Given the description of an element on the screen output the (x, y) to click on. 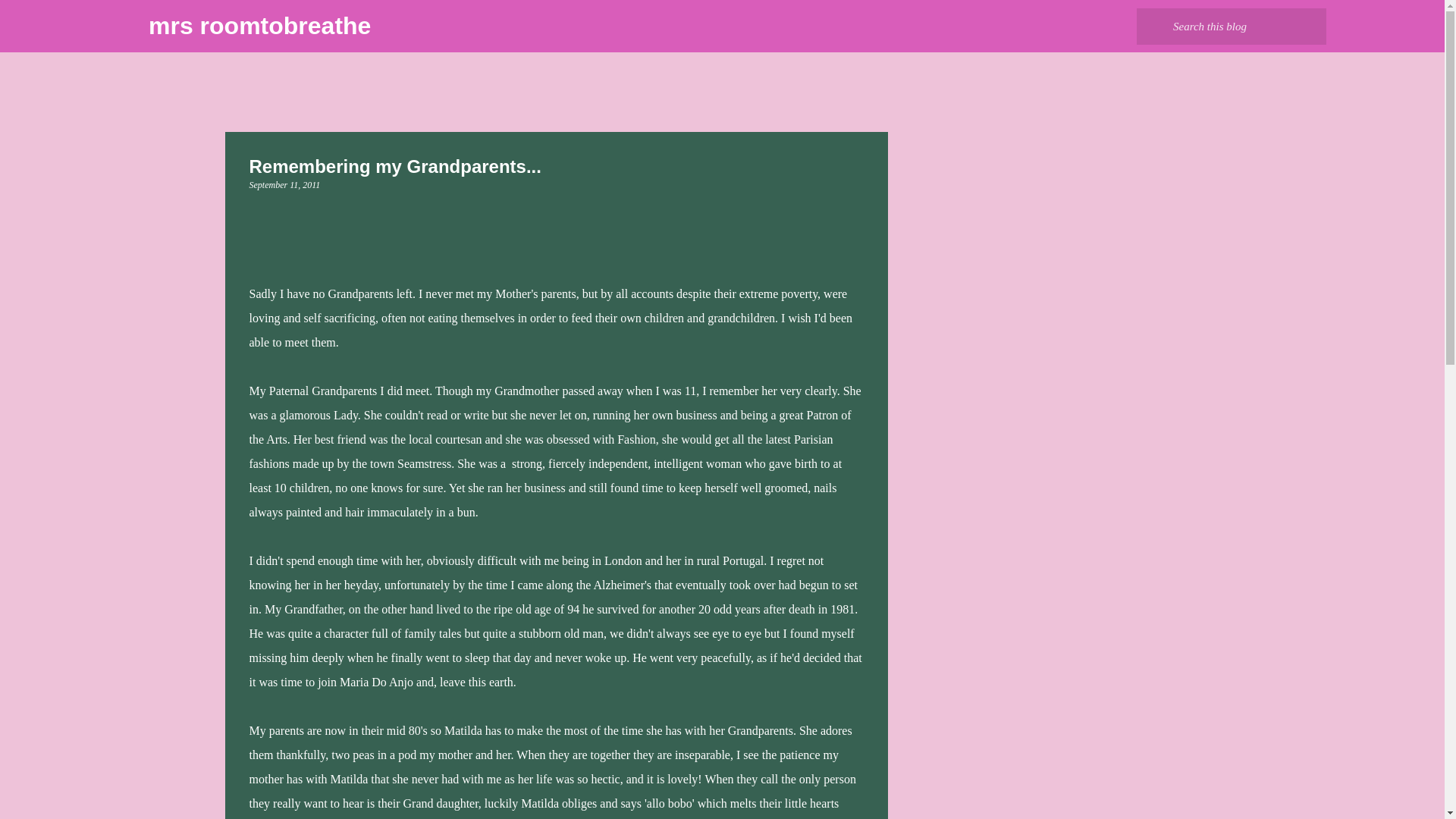
mrs roomtobreathe (259, 25)
September 11, 2011 (284, 184)
permanent link (284, 184)
